Given the description of an element on the screen output the (x, y) to click on. 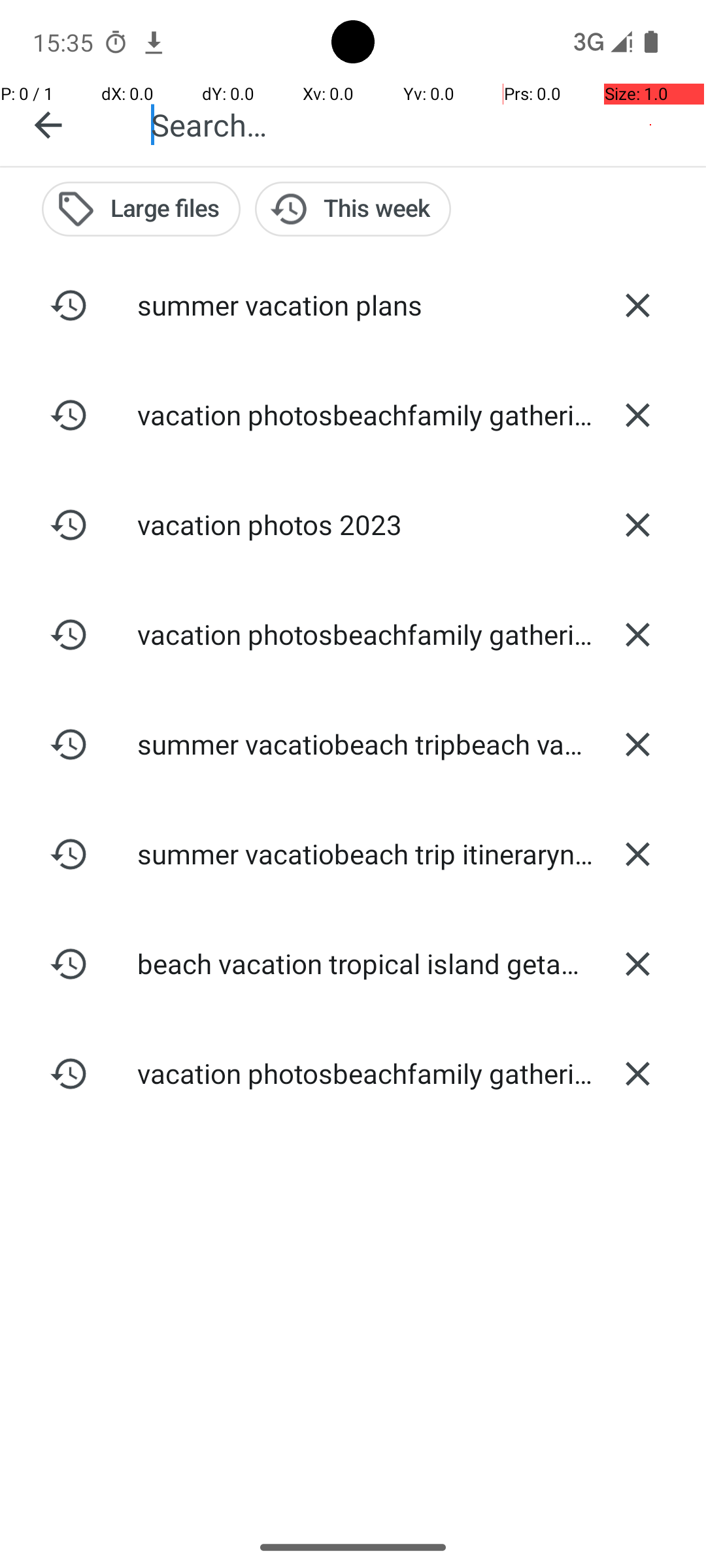
summer vacation plans Element type: android.widget.TextView (352, 304)
Delete search history summer vacation plans Element type: android.widget.ImageView (637, 304)
vacation photosbeachfamily gatheringfamily vacation 2023 beachfamily vacation 2023 itinerary trip memories summer 2023 trip memories 2023 Element type: android.widget.TextView (352, 414)
Delete search history vacation photosbeachfamily gatheringfamily vacation 2023 beachfamily vacation 2023 itinerary trip memories summer 2023 trip memories 2023 Element type: android.widget.ImageView (637, 414)
vacation photos 2023 Element type: android.widget.TextView (352, 523)
Delete search history vacation photos 2023 Element type: android.widget.ImageView (637, 524)
vacation photosbeachfamily gatheringfamily vacation 2023 beach trip memories summer 2023 trip memories 2023 Element type: android.widget.TextView (352, 633)
Delete search history vacation photosbeachfamily gatheringfamily vacation 2023 beach trip memories summer 2023 trip memories 2023 Element type: android.widget.ImageView (637, 634)
summer vacatiobeach tripbeach vacation packing list itineraryn plans Element type: android.widget.TextView (352, 743)
Delete search history summer vacatiobeach tripbeach vacation packing list itineraryn plans Element type: android.widget.ImageView (637, 743)
summer vacatiobeach trip itineraryn plans Element type: android.widget.TextView (352, 853)
Delete search history summer vacatiobeach trip itineraryn plans Element type: android.widget.ImageView (637, 853)
beach vacation tropical island getawaysdestinations Element type: android.widget.TextView (352, 962)
Delete search history beach vacation tropical island getawaysdestinations Element type: android.widget.ImageView (637, 963)
vacation photosbeachfamily gathering summer 2023 trip memories 2023 Element type: android.widget.TextView (352, 1072)
Delete search history vacation photosbeachfamily gathering summer 2023 trip memories 2023 Element type: android.widget.ImageView (637, 1073)
